Given the description of an element on the screen output the (x, y) to click on. 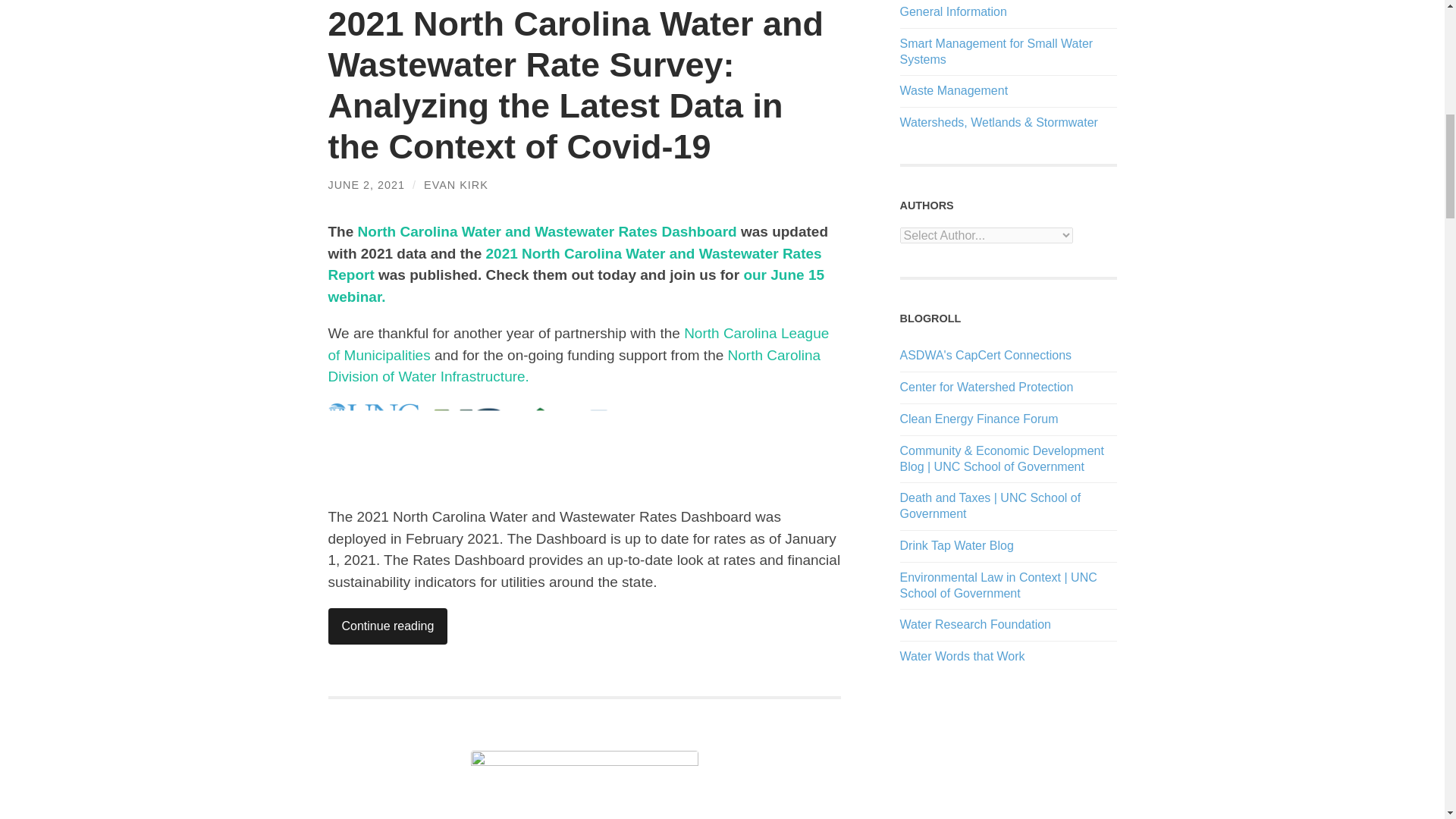
EVAN KIRK (455, 184)
Best Practices in Stormwater and Watershed Management (986, 386)
Posts by Evan Kirk (455, 184)
DrinkTap.org Water Blog (956, 545)
JUNE 2, 2021 (365, 184)
North Carolina Division of Water Infrastructure. (574, 365)
